Given the description of an element on the screen output the (x, y) to click on. 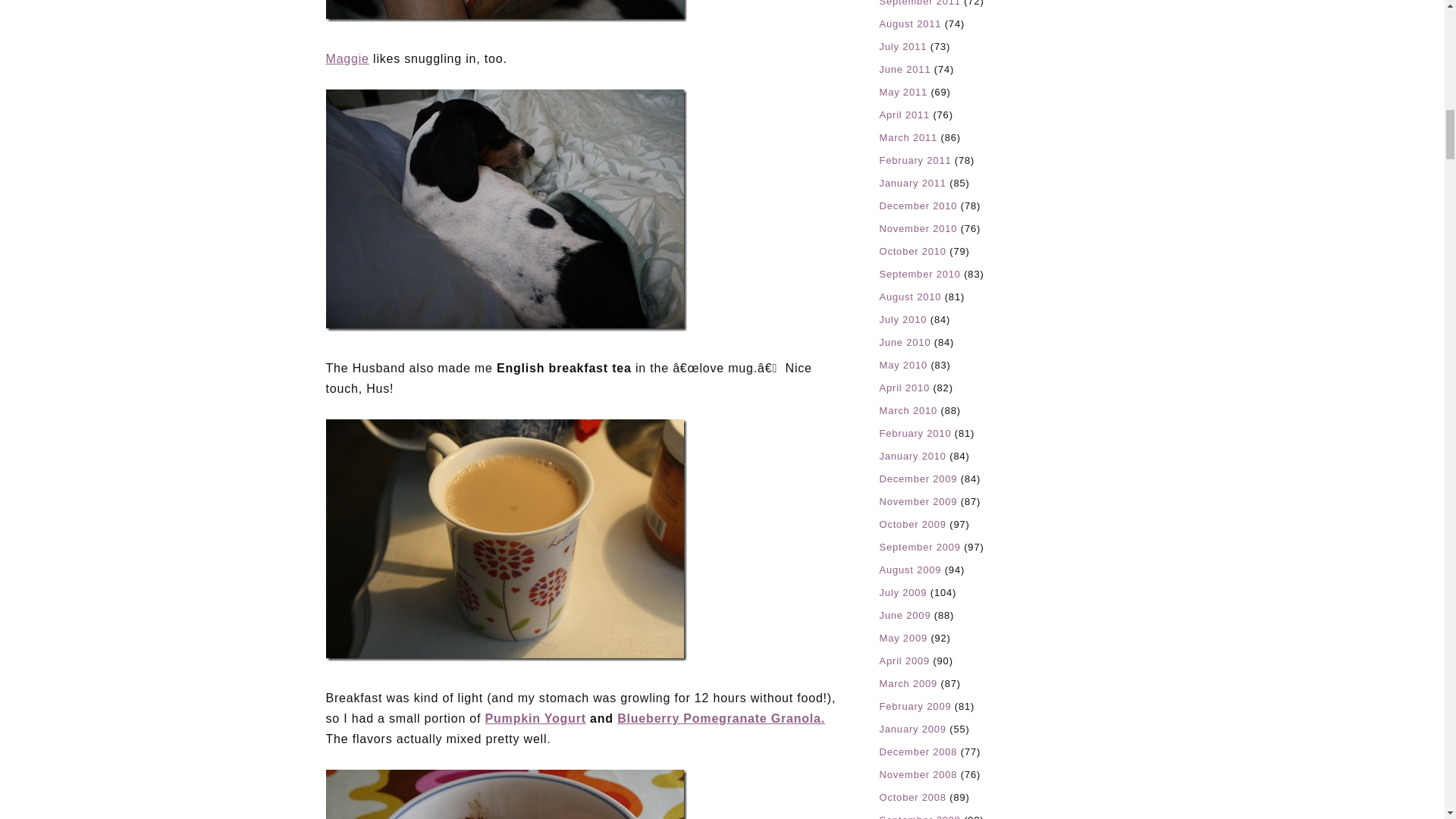
Pumpkin Yogurt (535, 717)
Maggie (347, 58)
Blueberry Pomegranate Granola. (721, 717)
